Given the description of an element on the screen output the (x, y) to click on. 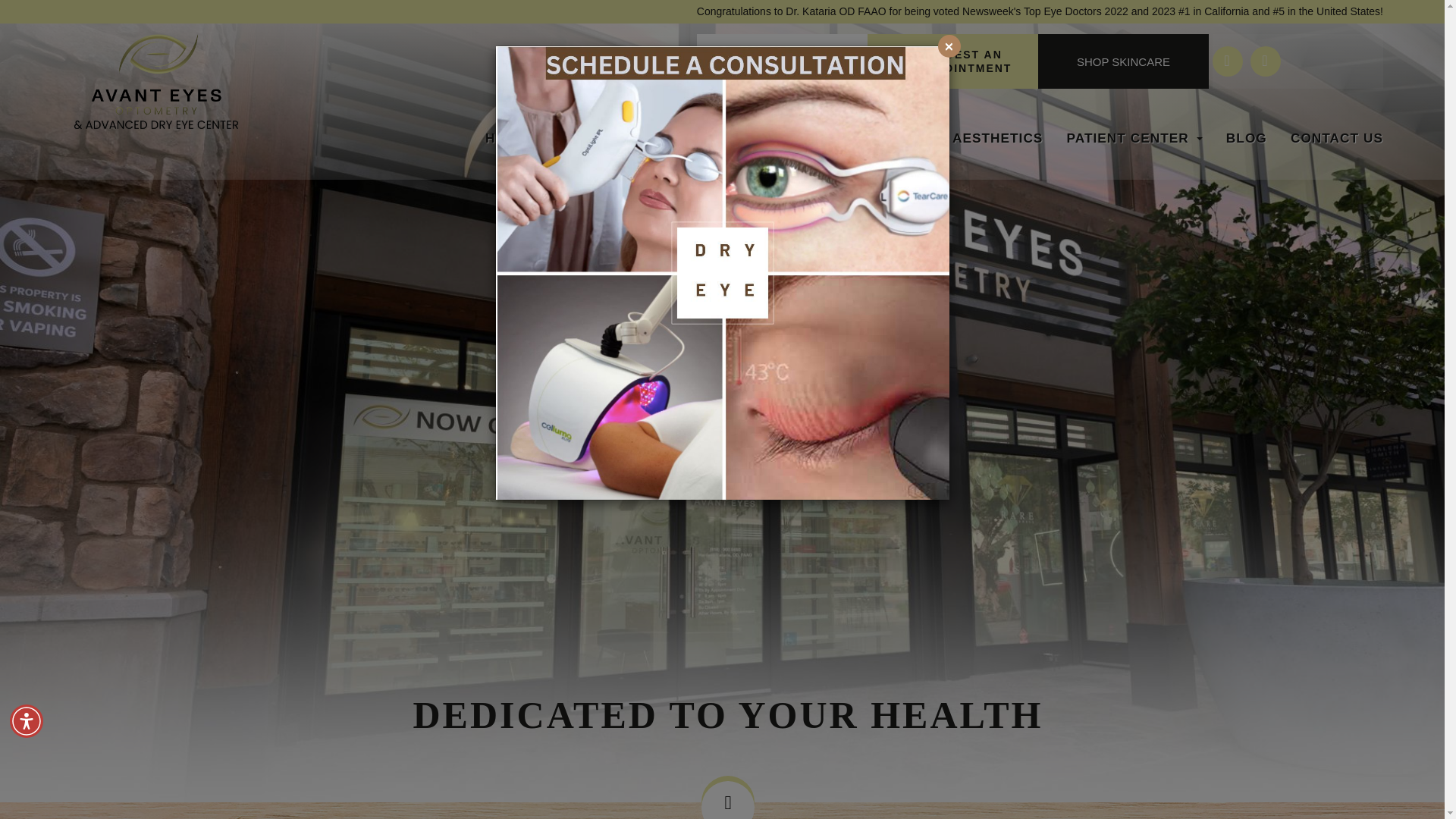
Accessibility Menu (26, 720)
